Given the description of an element on the screen output the (x, y) to click on. 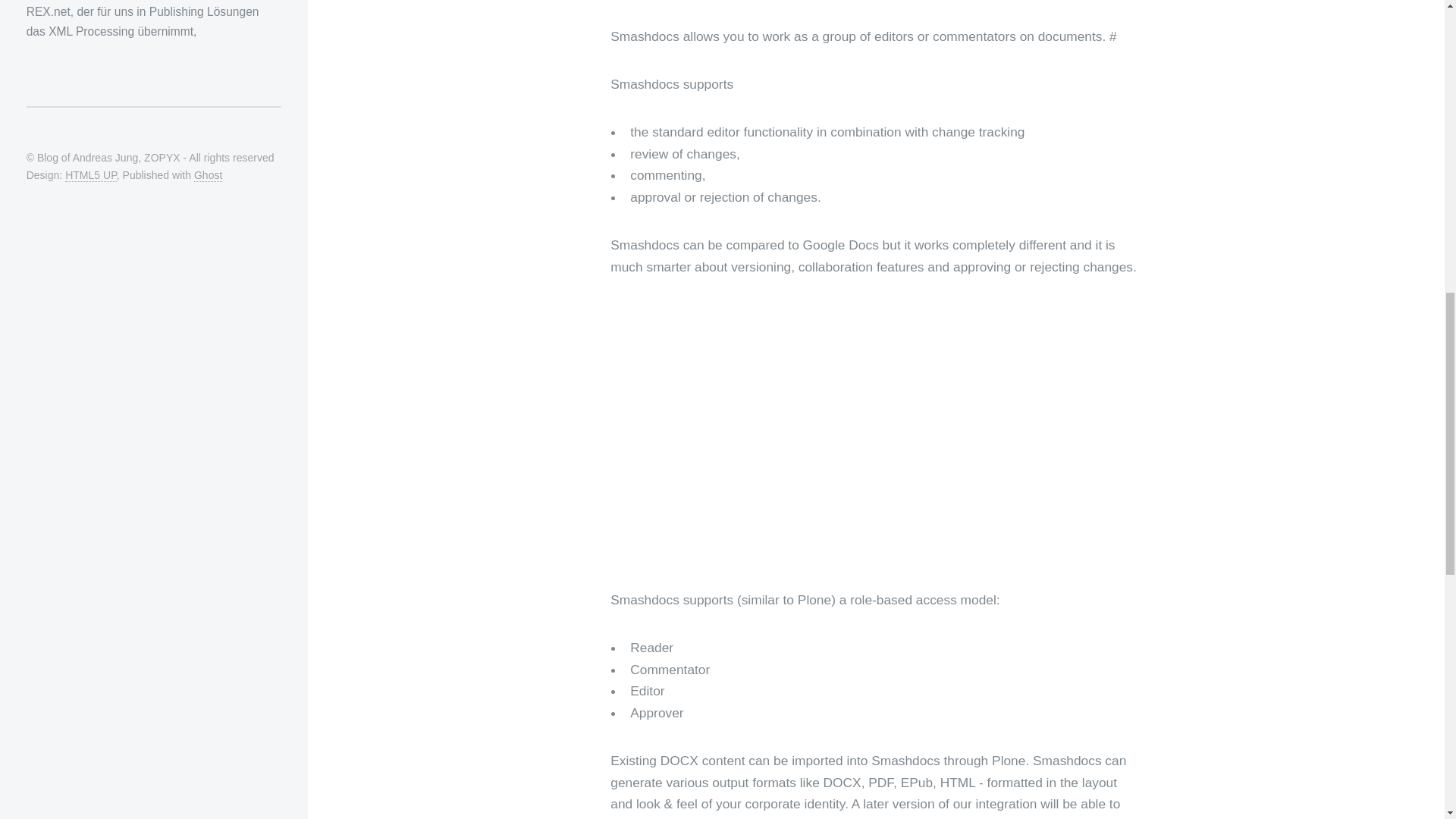
HTML5 UP (90, 174)
Ghost (207, 174)
